Given the description of an element on the screen output the (x, y) to click on. 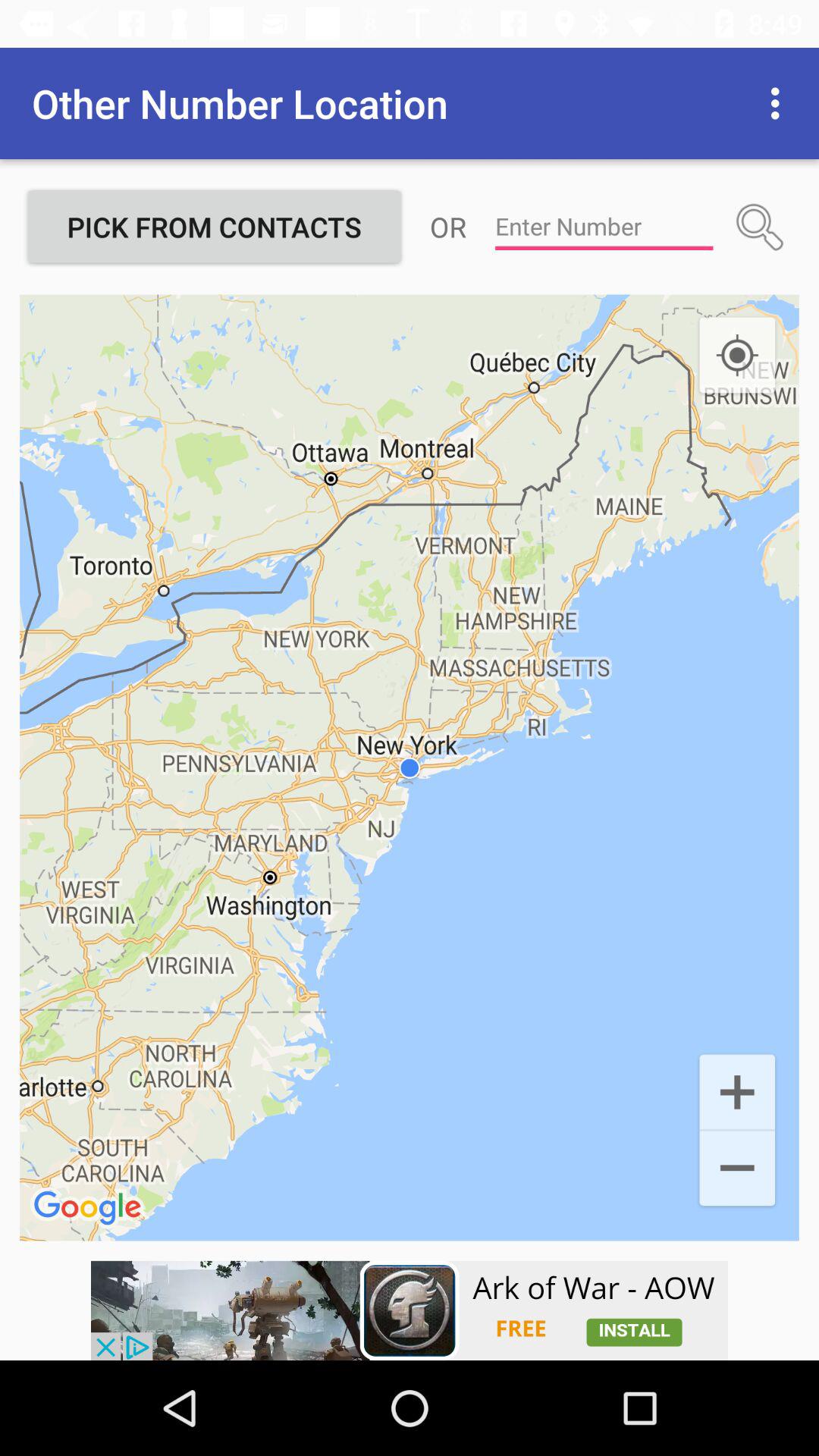
visit ark of war advertisement (409, 1310)
